Given the description of an element on the screen output the (x, y) to click on. 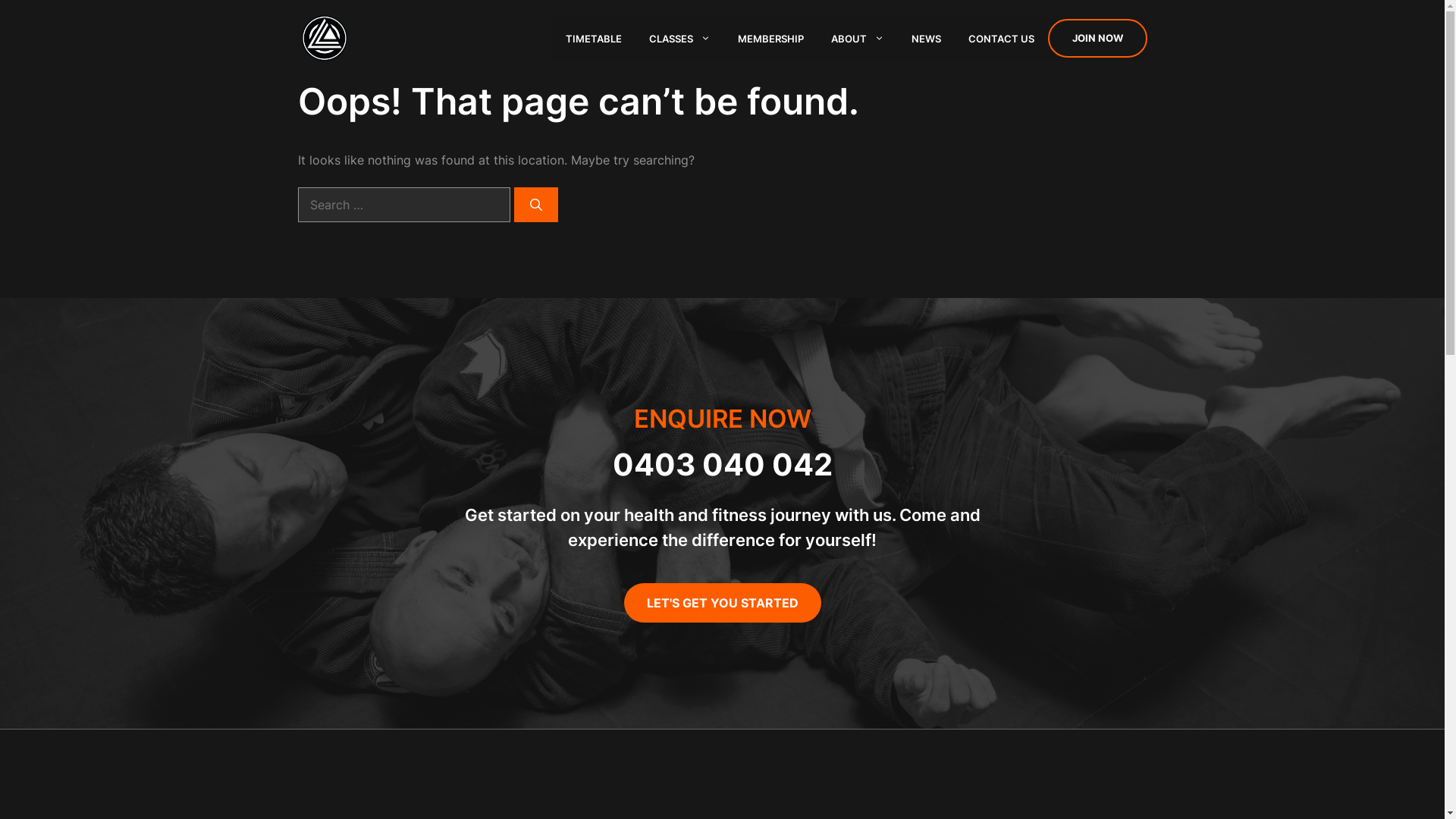
CLASSES Element type: text (679, 38)
CONTACT US Element type: text (1000, 38)
0403 040 042 Element type: text (722, 464)
JOIN NOW Element type: text (1097, 38)
Search for: Element type: hover (403, 204)
ABOUT Element type: text (857, 38)
MEMBERSHIP Element type: text (769, 38)
TIMETABLE Element type: text (593, 38)
LET'S GET YOU STARTED Element type: text (721, 602)
NEWS Element type: text (925, 38)
